Given the description of an element on the screen output the (x, y) to click on. 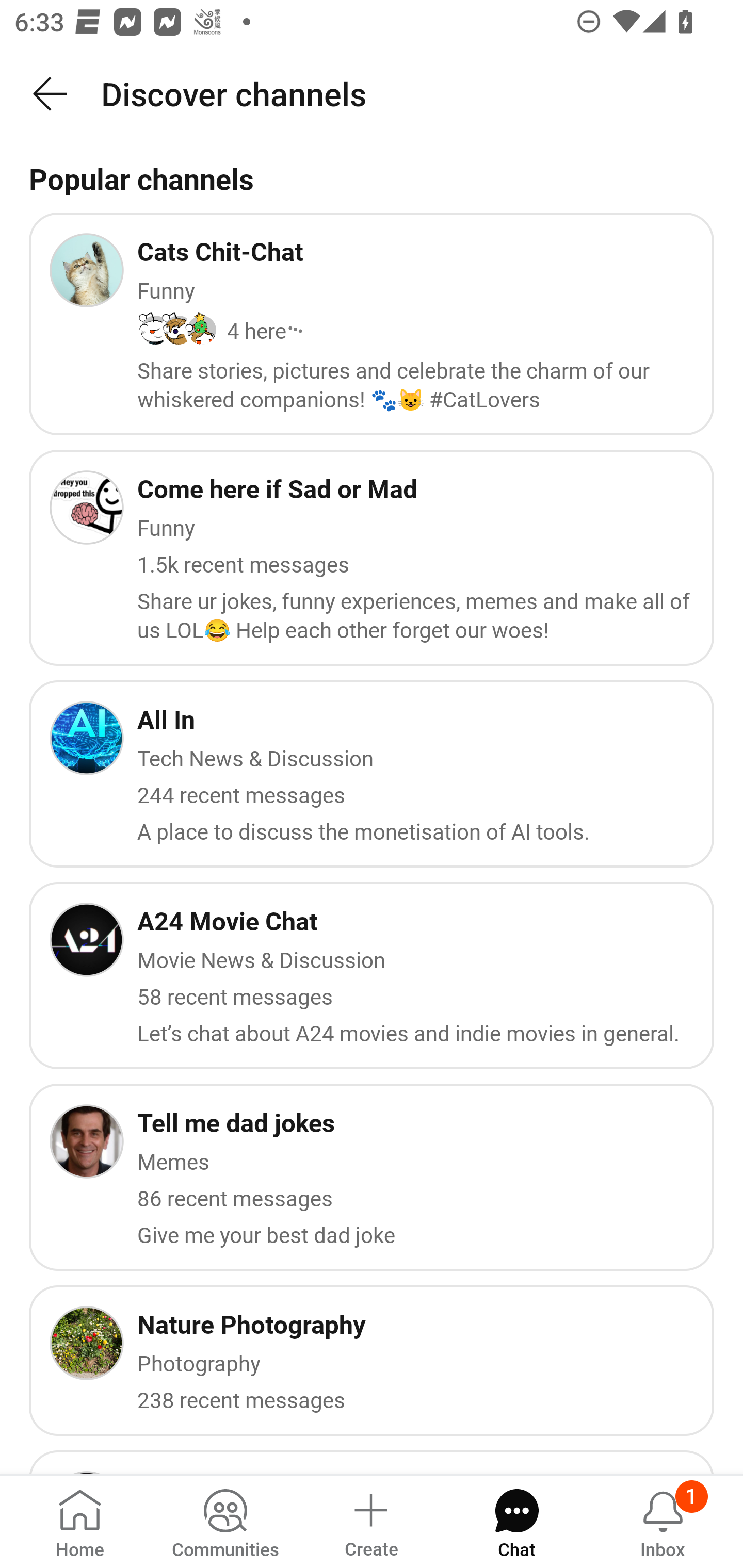
Back (50, 93)
Home (80, 1520)
Communities (225, 1520)
Create a post Create (370, 1520)
Chat (516, 1520)
Inbox, has 1 notification 1 Inbox (662, 1520)
